Given the description of an element on the screen output the (x, y) to click on. 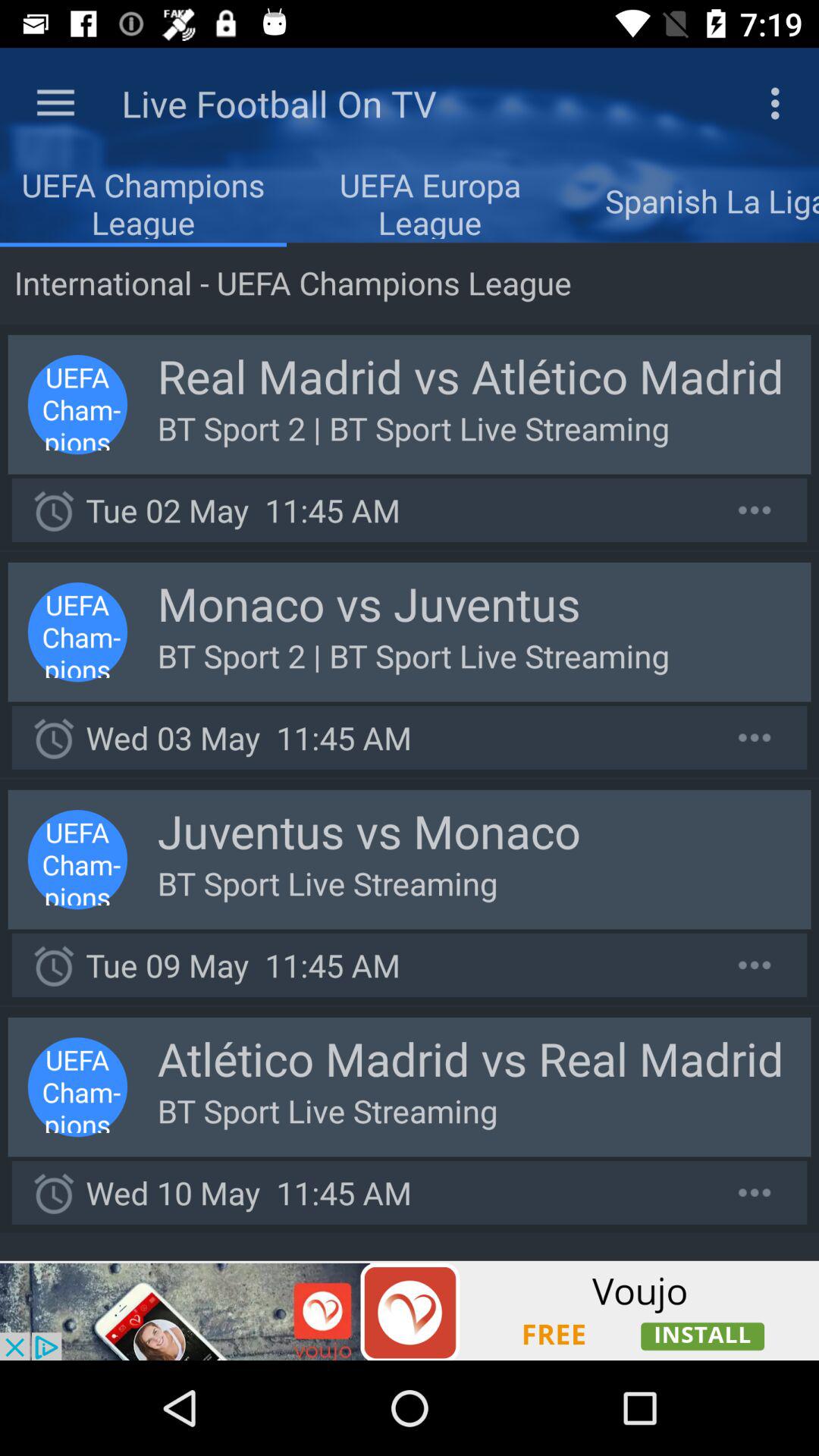
button (755, 737)
